Given the description of an element on the screen output the (x, y) to click on. 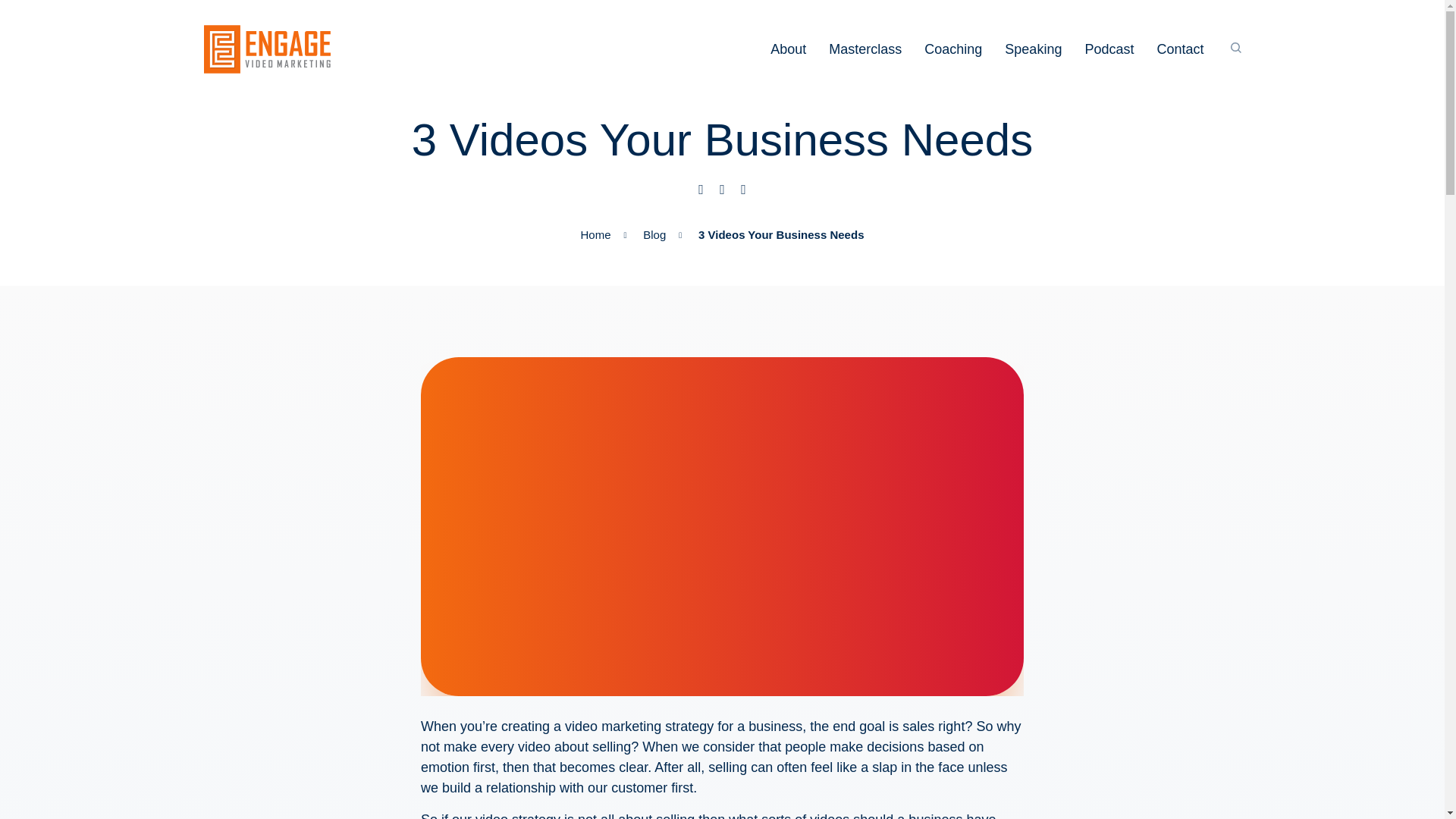
Podcast (1109, 48)
Blog (643, 235)
Speaking (1032, 48)
Contact (1180, 48)
Coaching (952, 48)
Masterclass (864, 48)
Home (595, 235)
About (788, 48)
